Given the description of an element on the screen output the (x, y) to click on. 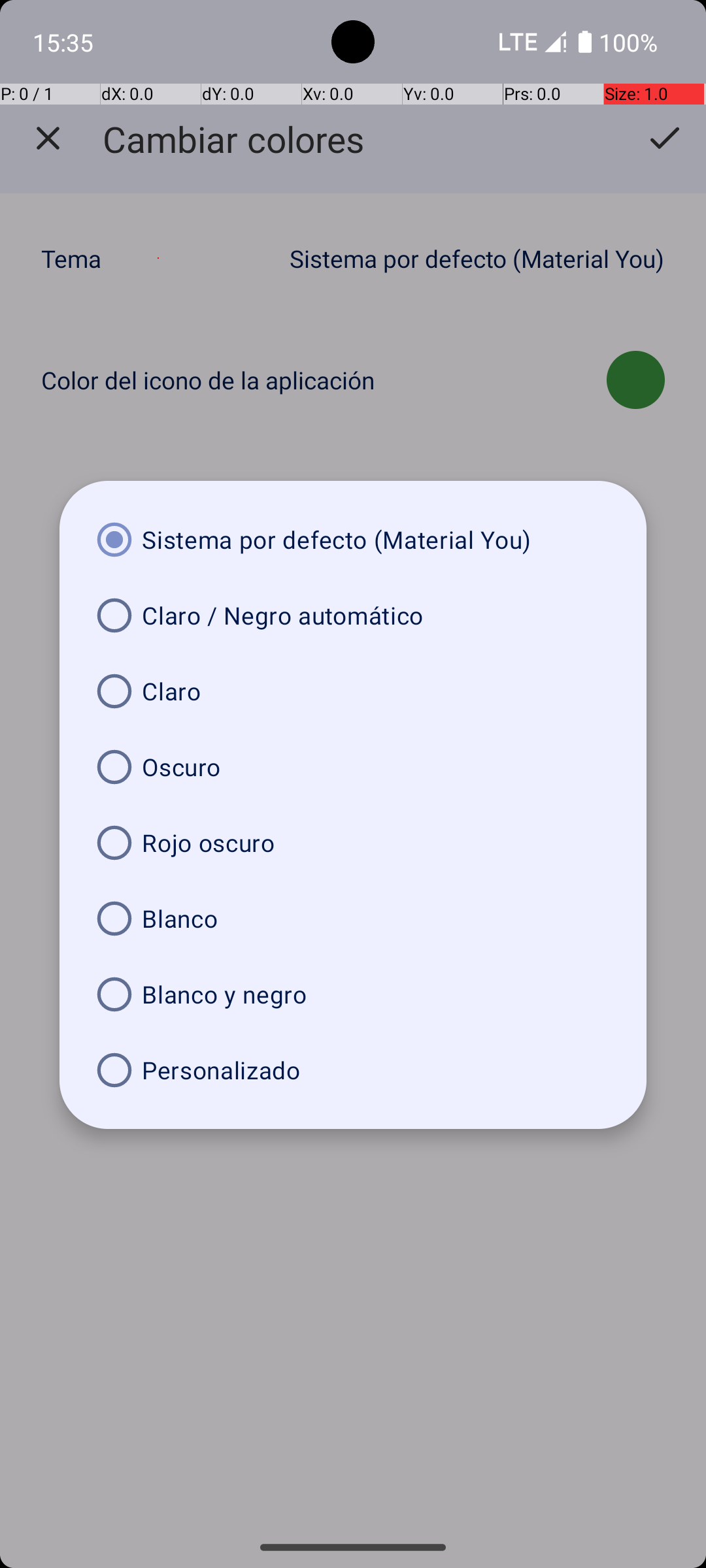
Sistema por defecto (Material You) Element type: android.widget.RadioButton (352, 539)
Claro / Negro automático Element type: android.widget.RadioButton (352, 615)
Claro Element type: android.widget.RadioButton (352, 691)
Oscuro Element type: android.widget.RadioButton (352, 766)
Rojo oscuro Element type: android.widget.RadioButton (352, 842)
Blanco Element type: android.widget.RadioButton (352, 918)
Blanco y negro Element type: android.widget.RadioButton (352, 994)
Personalizado Element type: android.widget.RadioButton (352, 1070)
